Given the description of an element on the screen output the (x, y) to click on. 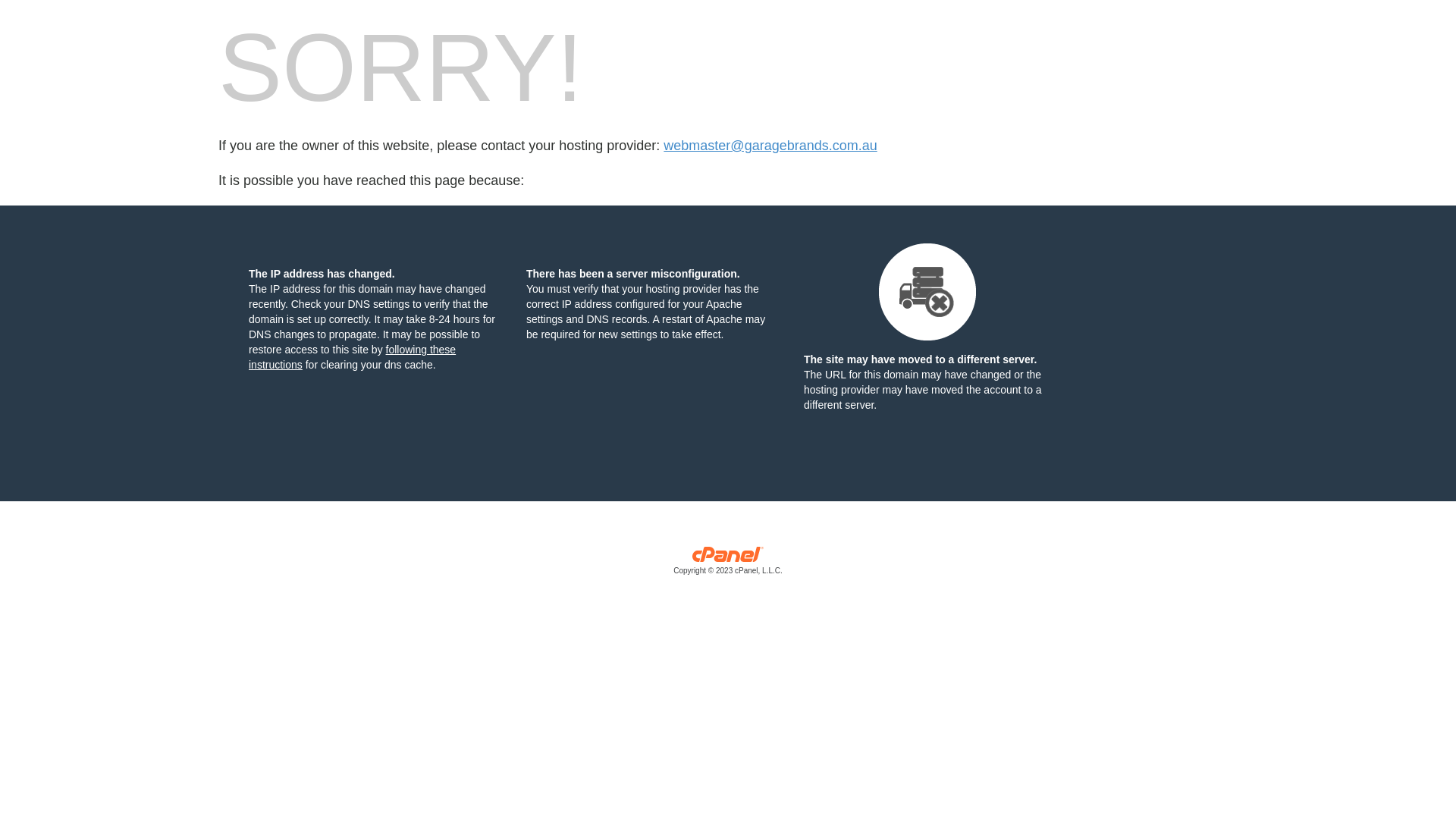
webmaster@garagebrands.com.au Element type: text (769, 145)
following these instructions Element type: text (351, 356)
